Given the description of an element on the screen output the (x, y) to click on. 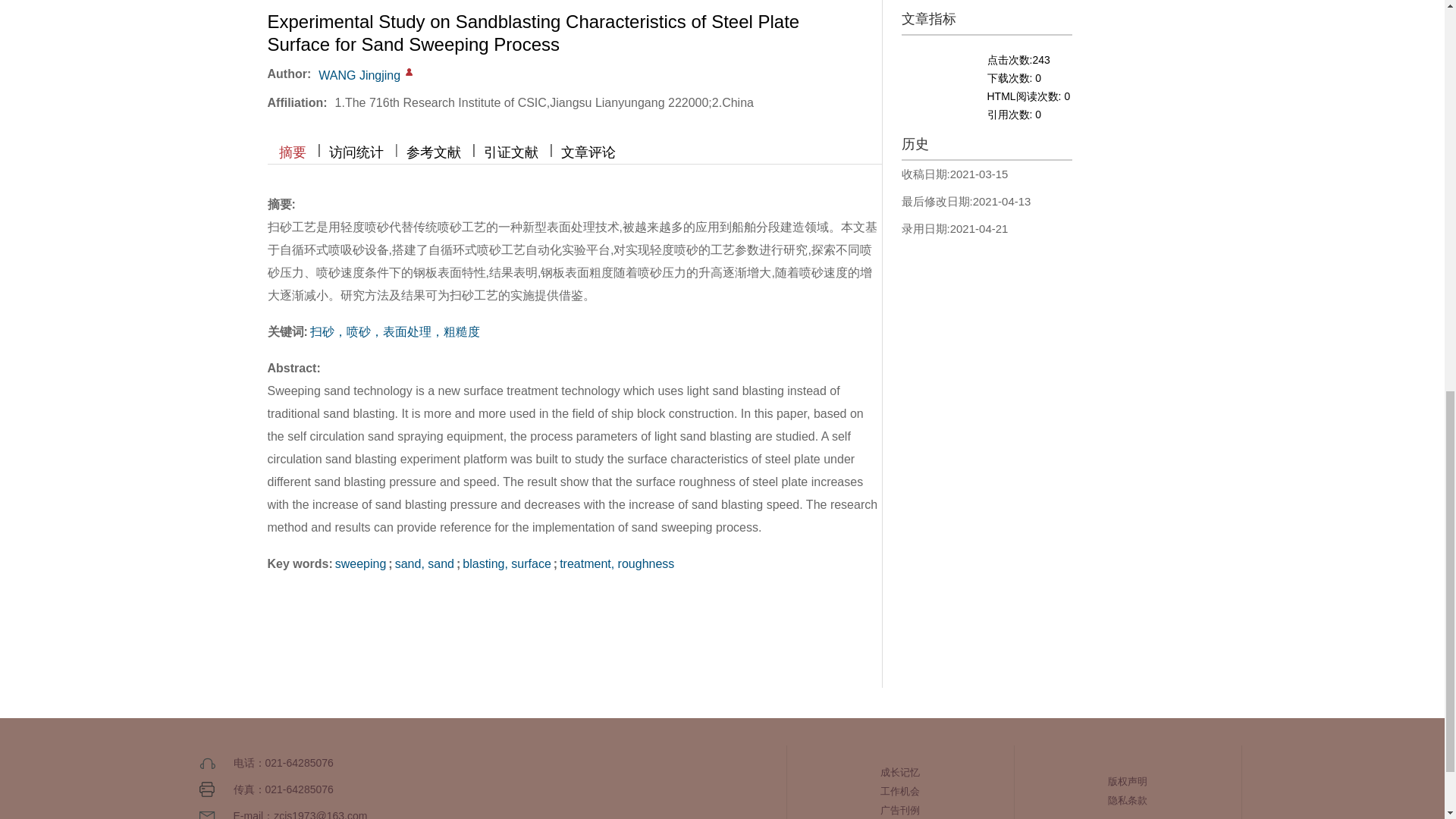
blasting, surface (507, 563)
treatment, roughness (616, 563)
Contact author:WANG Jingjing,Email:  (409, 71)
sweeping (360, 563)
WANG Jingjing (359, 74)
sand, sand (424, 563)
